Given the description of an element on the screen output the (x, y) to click on. 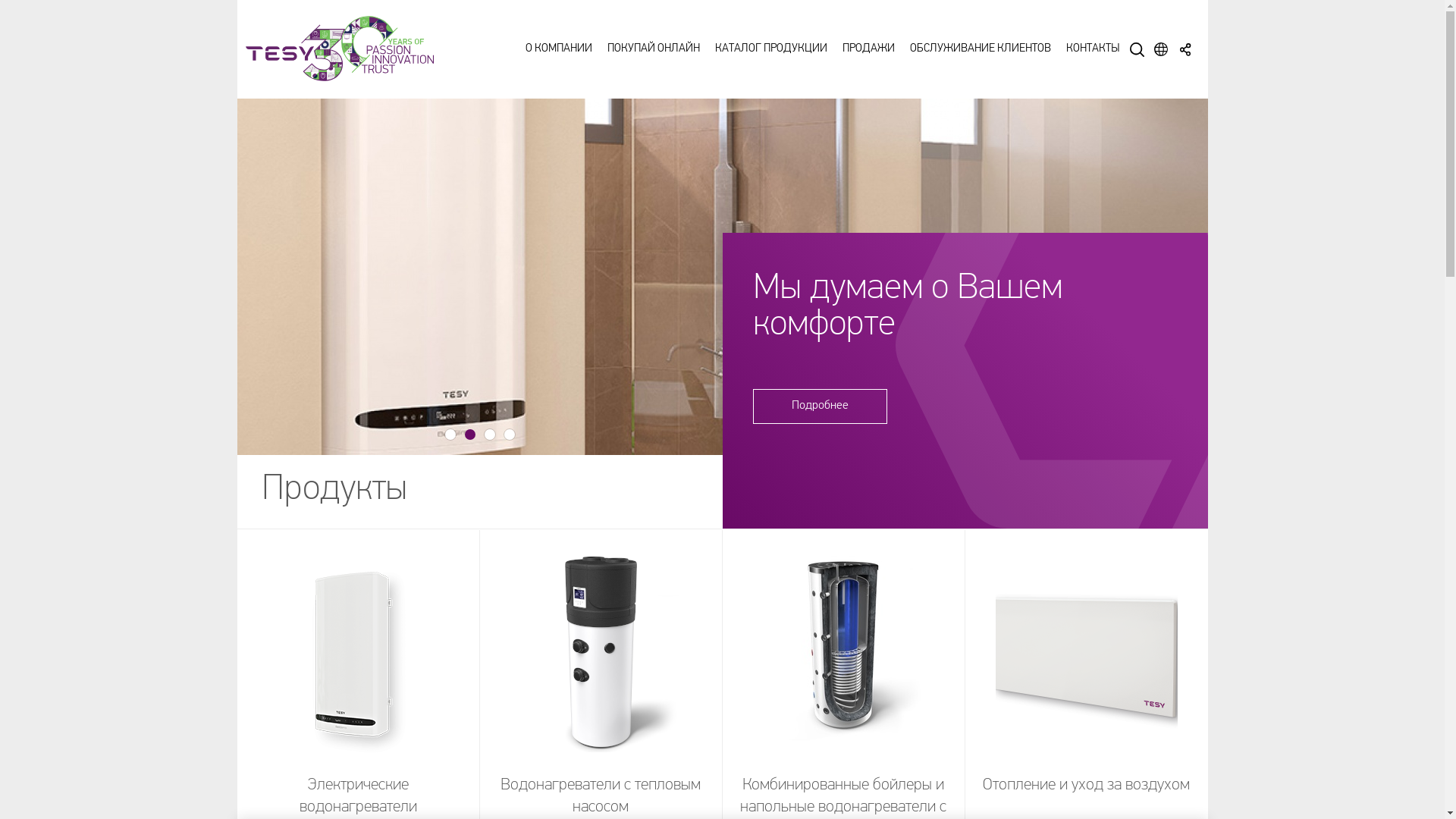
Tesy Element type: text (342, 48)
3 Element type: text (488, 434)
1 Element type: text (449, 434)
4 Element type: text (508, 434)
2 Element type: text (469, 434)
